Given the description of an element on the screen output the (x, y) to click on. 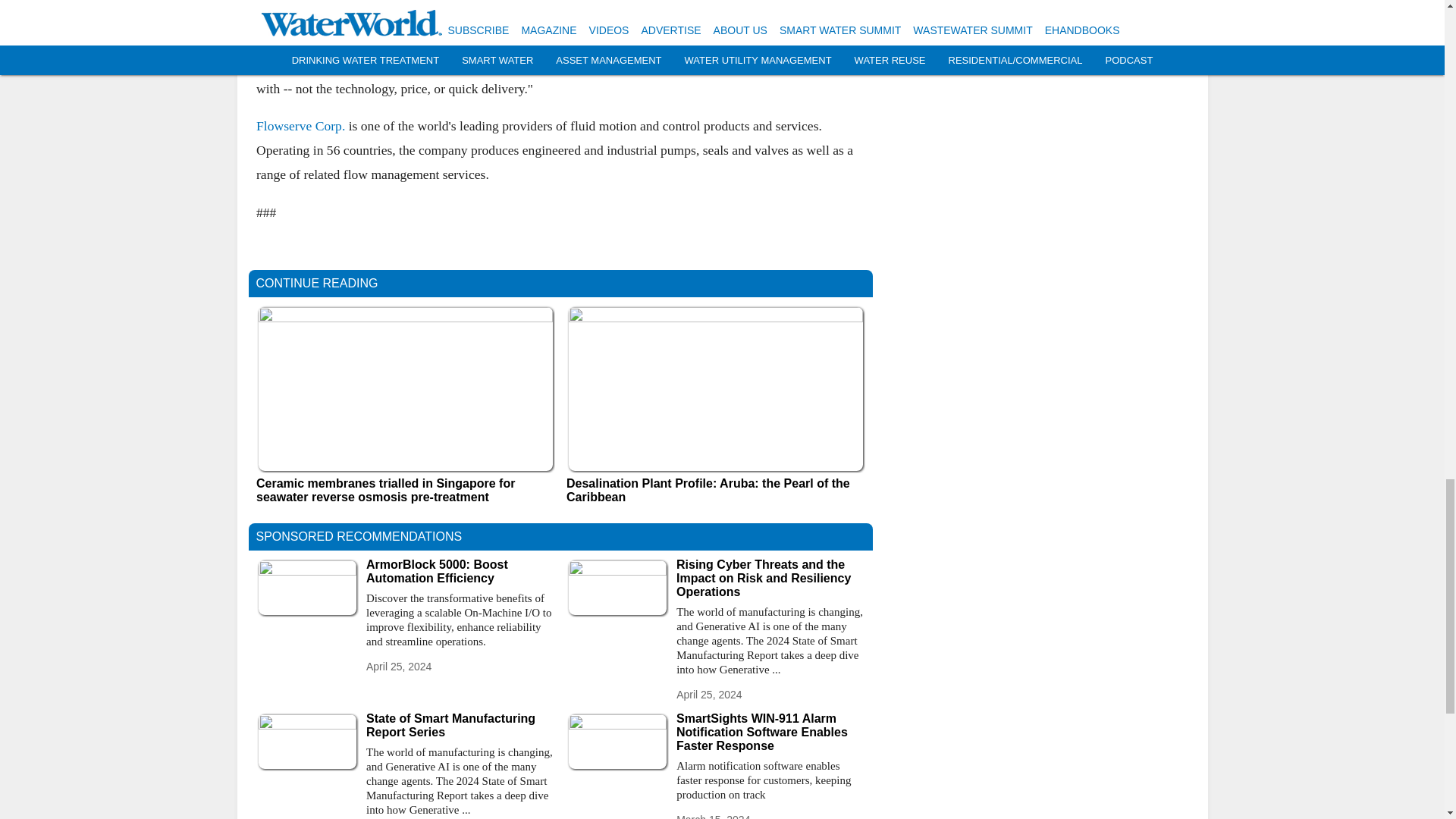
Flowserve Corp. (300, 125)
ArmorBlock 5000: Boost Automation Efficiency (459, 571)
State of Smart Manufacturing Report Series (459, 725)
